Given the description of an element on the screen output the (x, y) to click on. 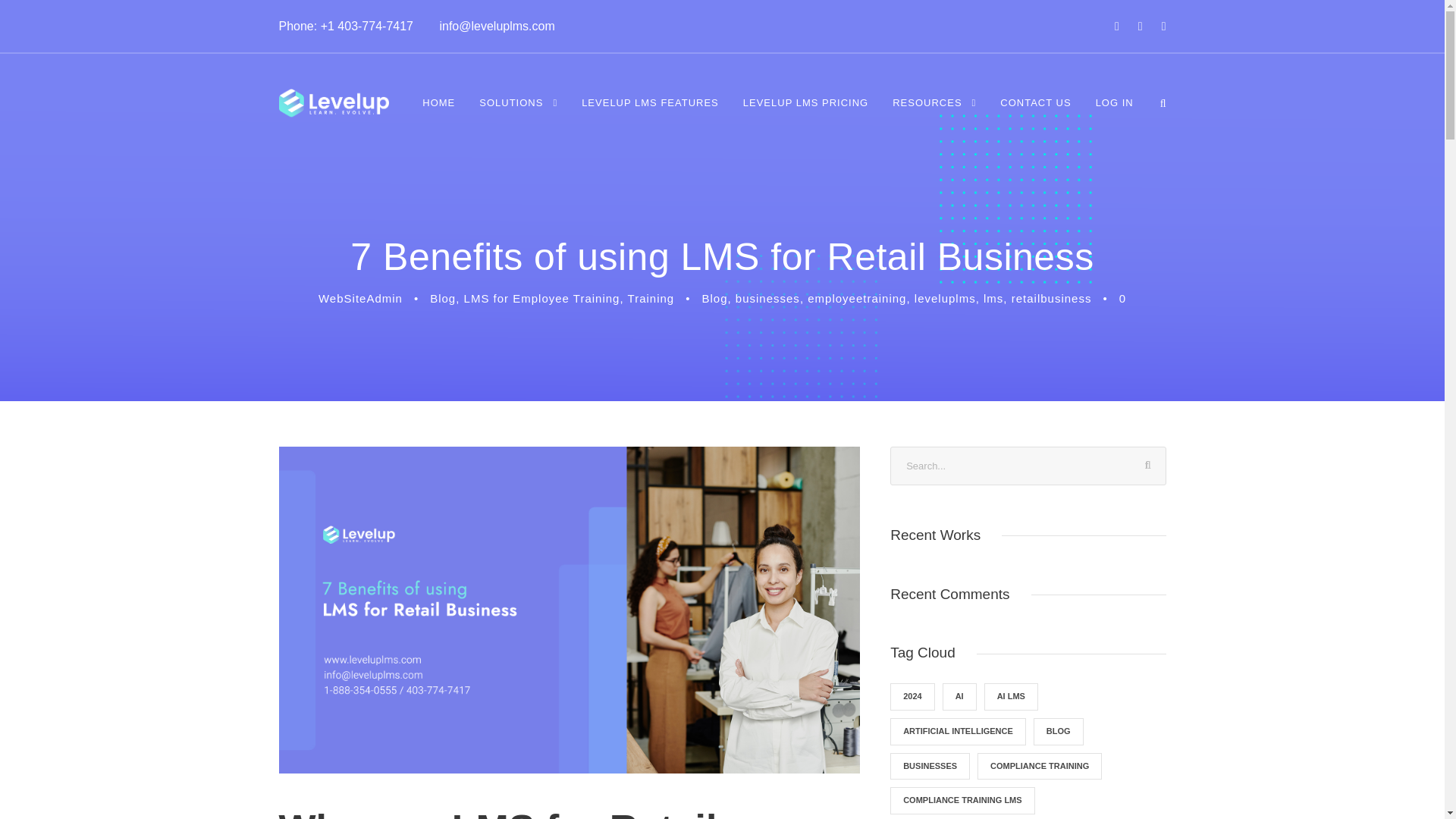
employeetraining (856, 297)
Levelup LMS Logo White (333, 102)
retailbusiness (1051, 297)
RESOURCES (933, 113)
LMS for Employee Training (542, 297)
LOG IN (1115, 113)
LEVELUP LMS PRICING (804, 113)
CONTACT US (1035, 113)
leveluplms (944, 297)
Posts by WebSiteAdmin (360, 297)
